Given the description of an element on the screen output the (x, y) to click on. 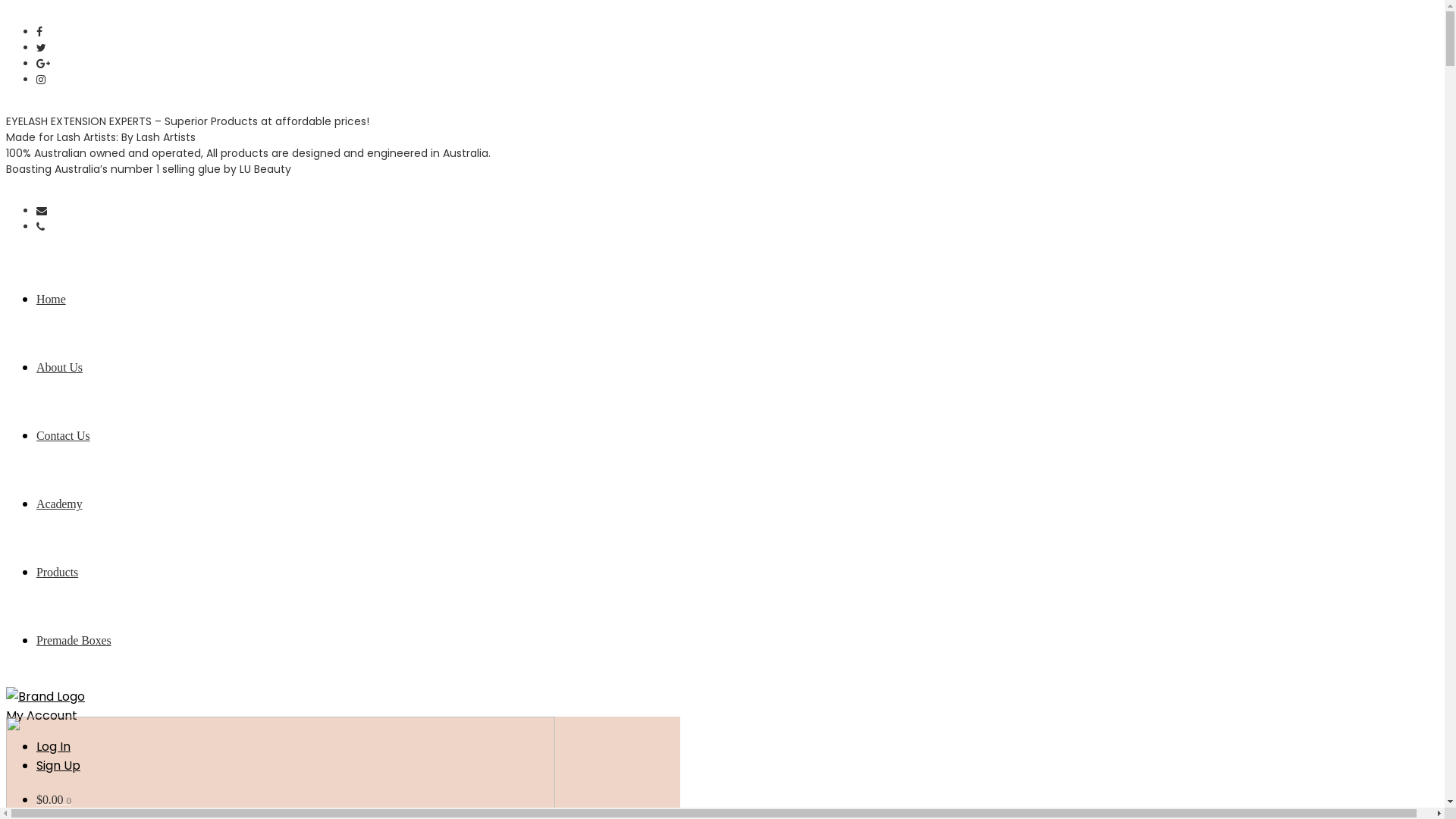
Sign Up Element type: text (58, 765)
Skip to navigation Element type: text (5, 5)
About Us Element type: text (464, 380)
$0.00 0 Element type: text (53, 799)
Premade Boxes Element type: text (464, 653)
Log In Element type: text (53, 746)
Products Element type: text (464, 585)
Contact Us Element type: text (464, 449)
Academy Element type: text (464, 517)
Home Element type: text (464, 312)
